Given the description of an element on the screen output the (x, y) to click on. 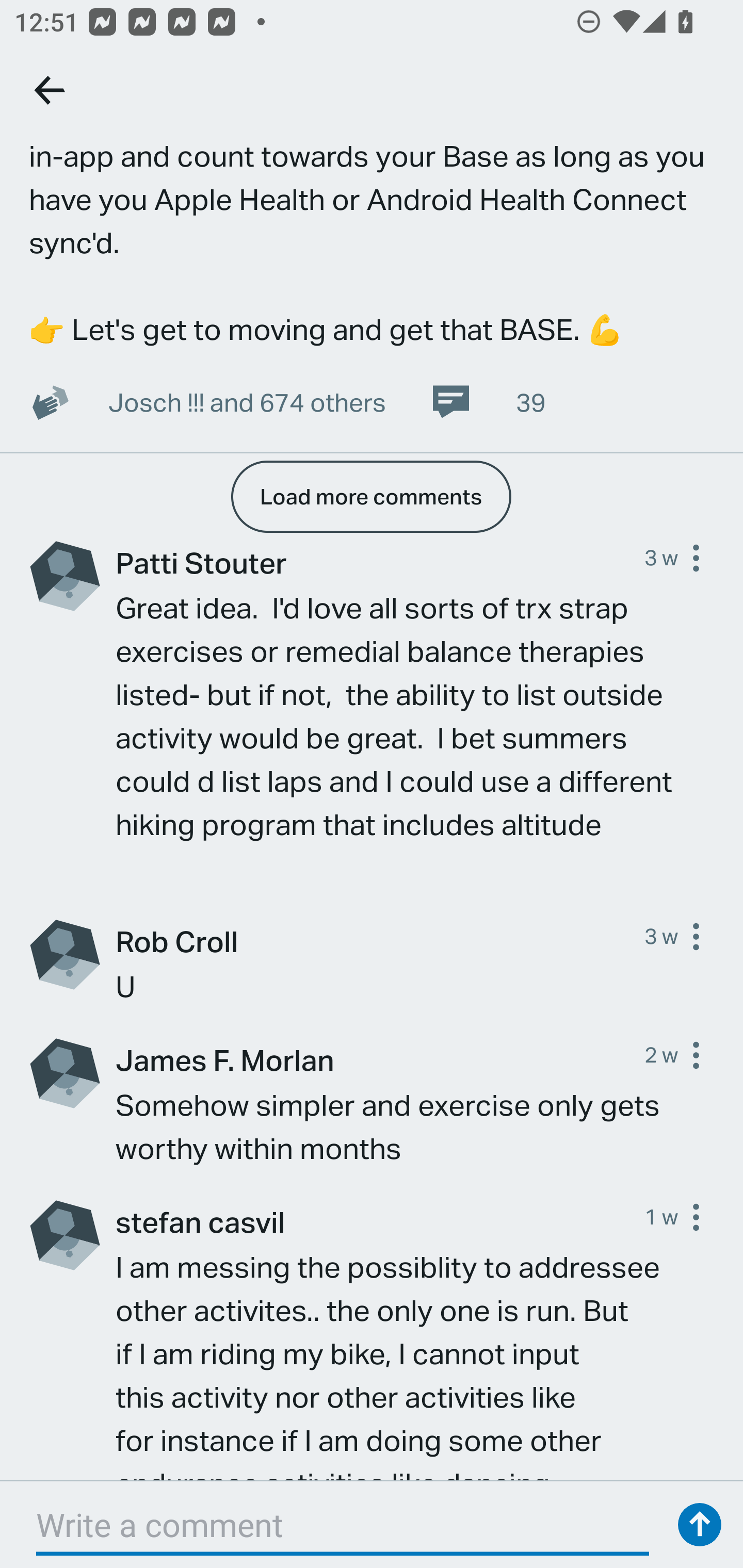
Go back (50, 90)
Josch !!! and 674 others (247, 401)
39 (487, 401)
Load more comments (371, 496)
Patti Stouter (379, 561)
Rob Croll (379, 940)
James F. Morlan (379, 1059)
stefan casvil (379, 1221)
Write a comment (342, 1524)
Send (699, 1524)
